Given the description of an element on the screen output the (x, y) to click on. 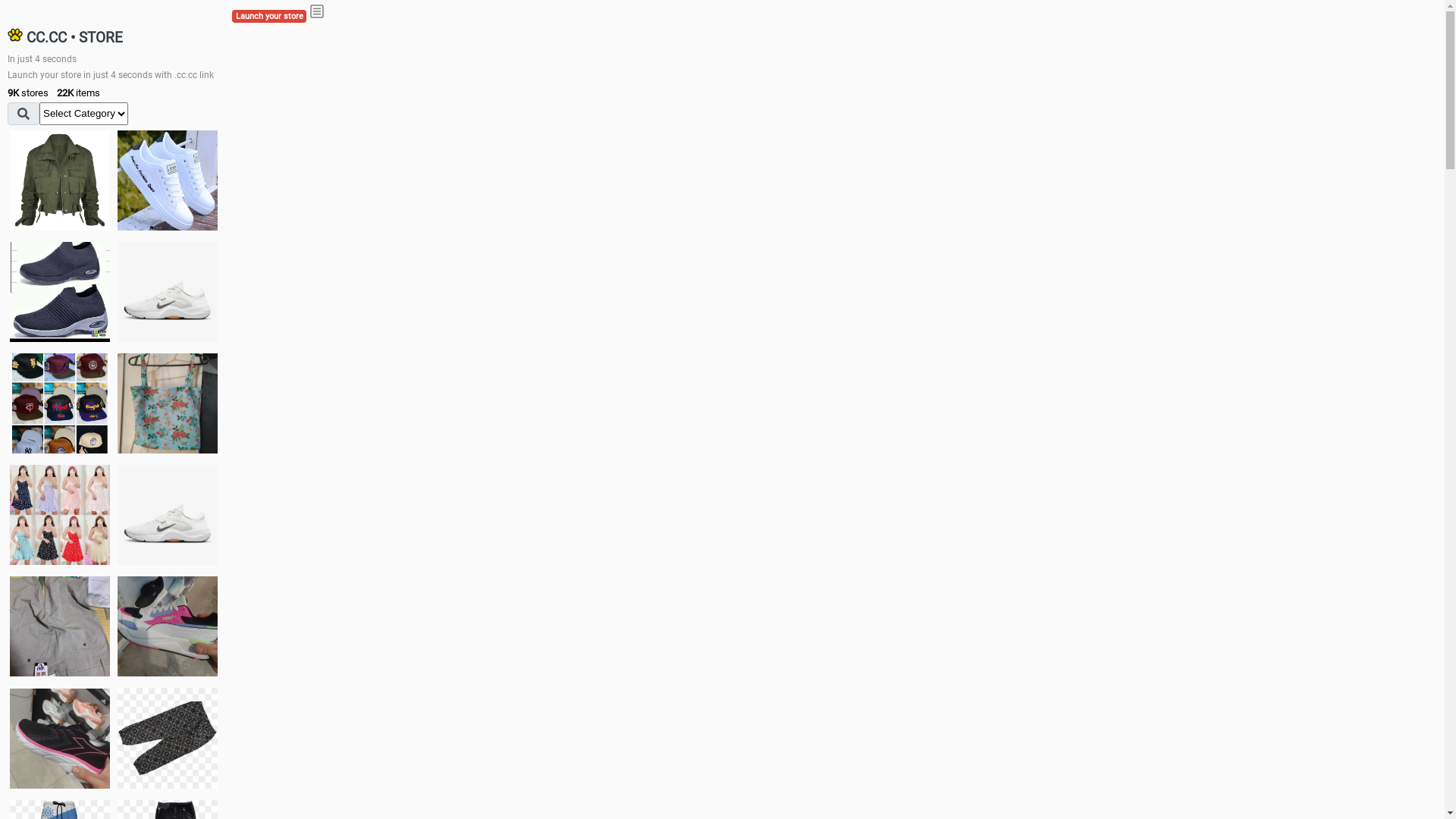
Launch your store Element type: text (269, 15)
Ukay cloth Element type: hover (167, 403)
Dress/square nect top Element type: hover (59, 514)
white shoes Element type: hover (167, 180)
Zapatillas pumas Element type: hover (167, 626)
Short pant Element type: hover (167, 737)
Shoes Element type: hover (167, 514)
Shoes for boys Element type: hover (167, 291)
Zapatillas Element type: hover (59, 738)
Things we need Element type: hover (59, 403)
jacket Element type: hover (59, 180)
shoes for boys Element type: hover (59, 291)
